Given the description of an element on the screen output the (x, y) to click on. 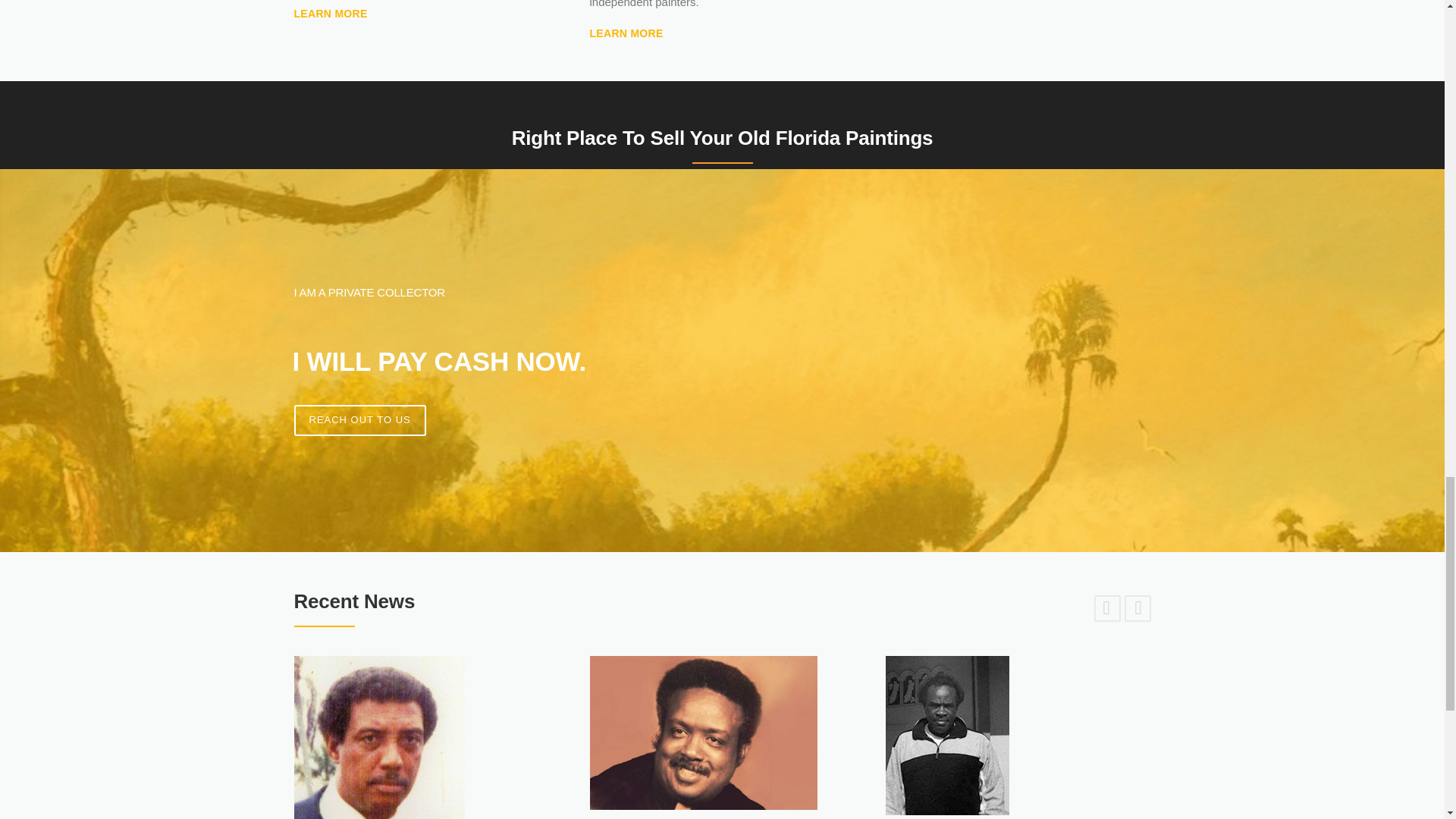
About (331, 13)
Contact Us (360, 419)
REACH OUT TO US (360, 419)
Services (625, 33)
LEARN MORE (625, 33)
LEARN MORE (331, 13)
